Given the description of an element on the screen output the (x, y) to click on. 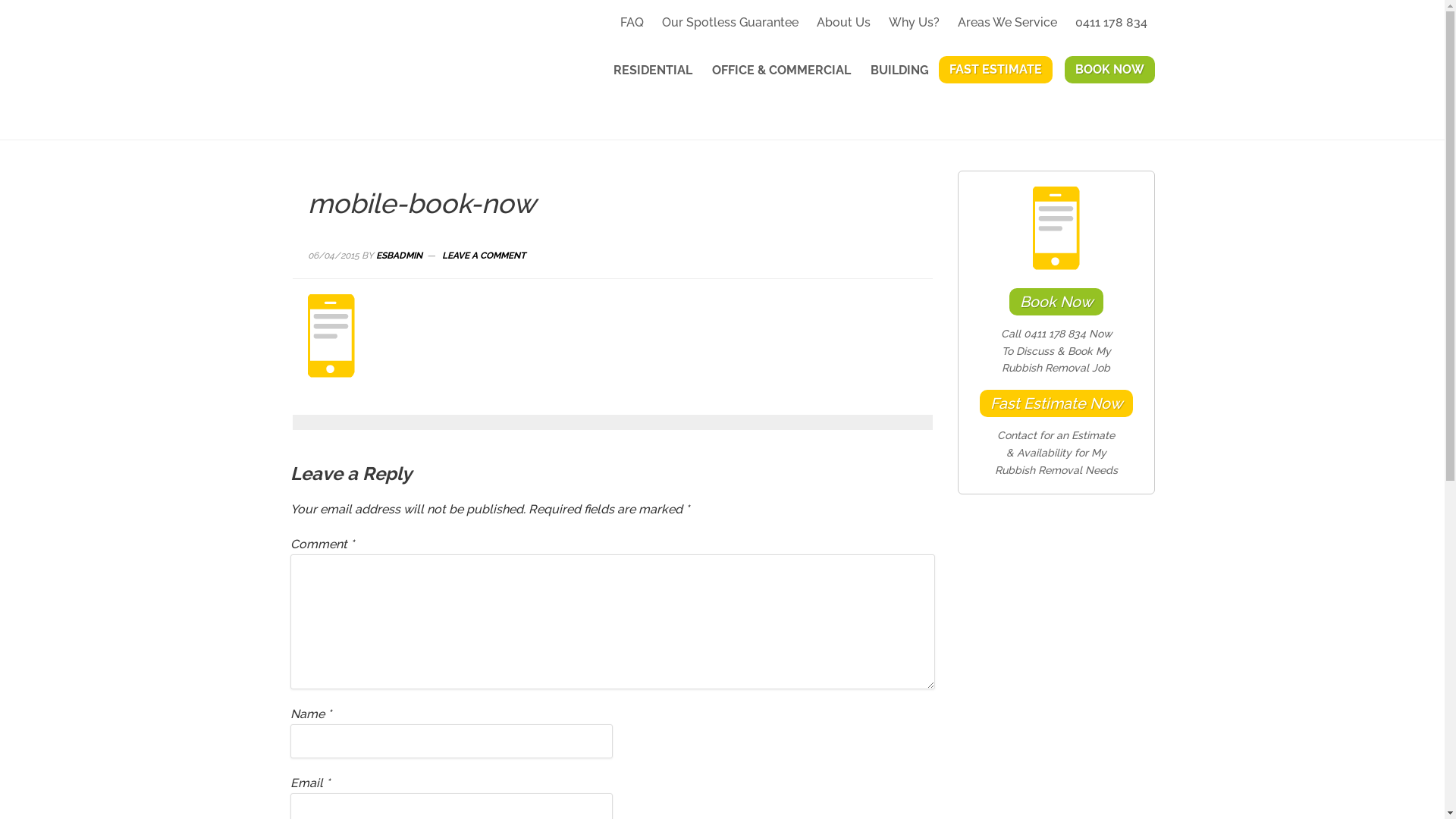
About Us Element type: text (842, 22)
LEAVE A COMMENT Element type: text (483, 255)
OFFICE & COMMERCIAL Element type: text (781, 70)
Eastern Suburb Rubbish Removal Element type: text (425, 65)
FAQ Element type: text (631, 22)
BOOK NOW Element type: text (1109, 69)
Why Us? Element type: text (914, 22)
Areas We Service Element type: text (1006, 22)
0411 178 834 Element type: text (1110, 22)
FAST ESTIMATE Element type: text (995, 69)
BUILDING Element type: text (898, 70)
Book Now Element type: text (1055, 301)
Fast Estimate Now Element type: text (1055, 403)
ESBADMIN Element type: text (399, 255)
Our Spotless Guarantee Element type: text (729, 22)
RESIDENTIAL Element type: text (652, 70)
